Given the description of an element on the screen output the (x, y) to click on. 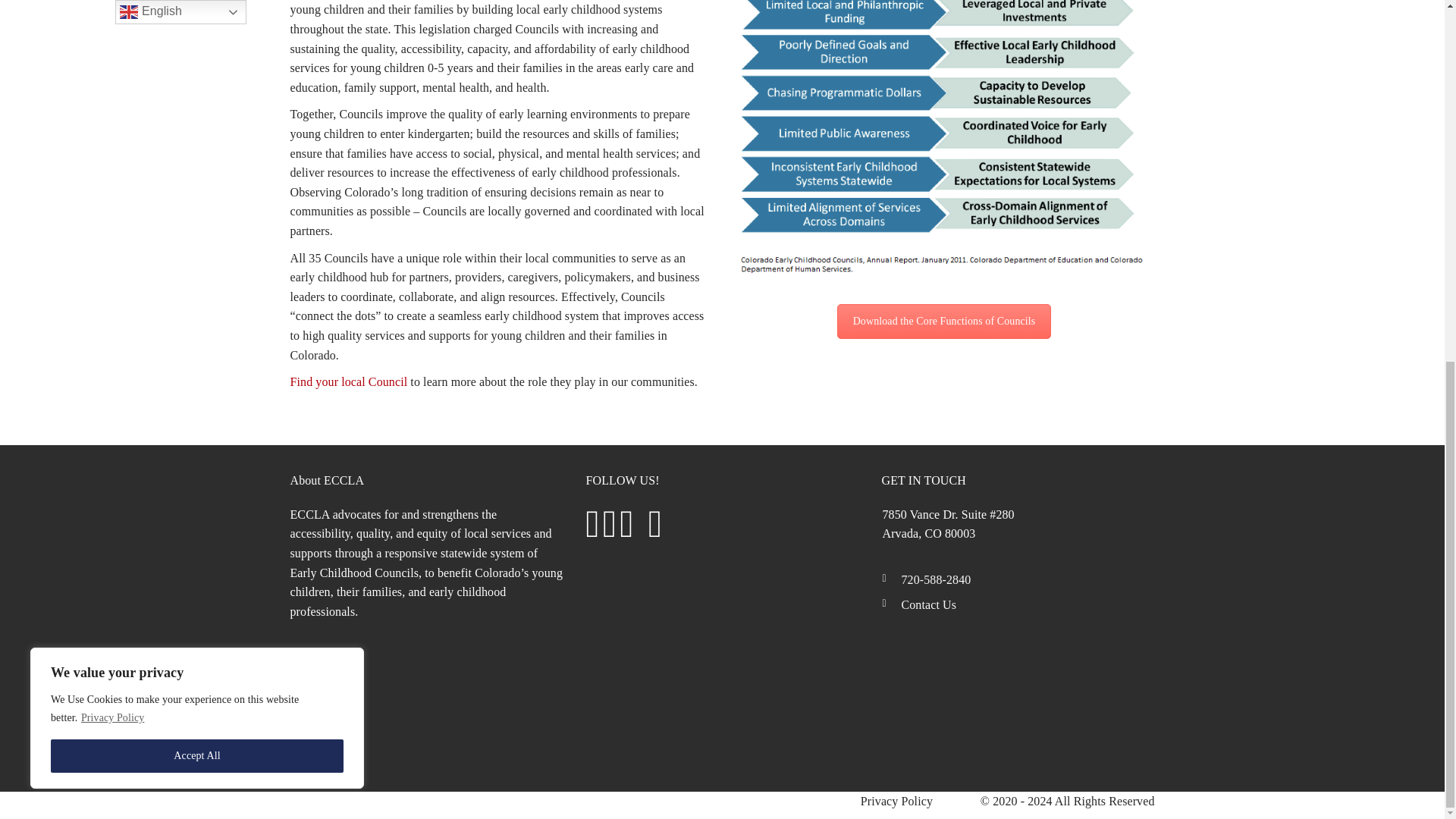
Privacy Policy (112, 72)
Before and After Councils (943, 138)
Accept All (196, 111)
